Given the description of an element on the screen output the (x, y) to click on. 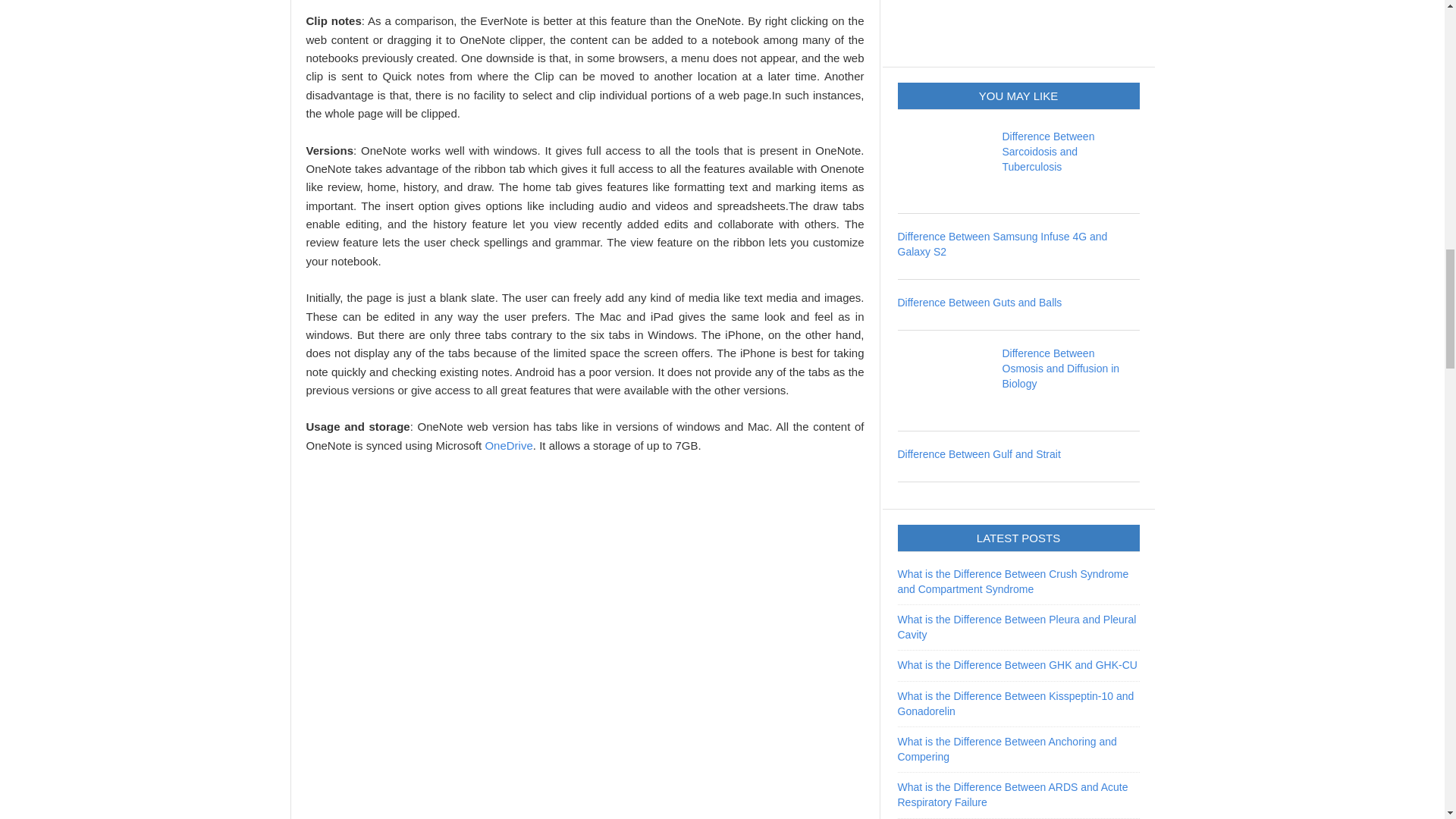
Difference Between Microsoft OneDrive and SkyDrive (508, 445)
OneDrive (508, 445)
